Given the description of an element on the screen output the (x, y) to click on. 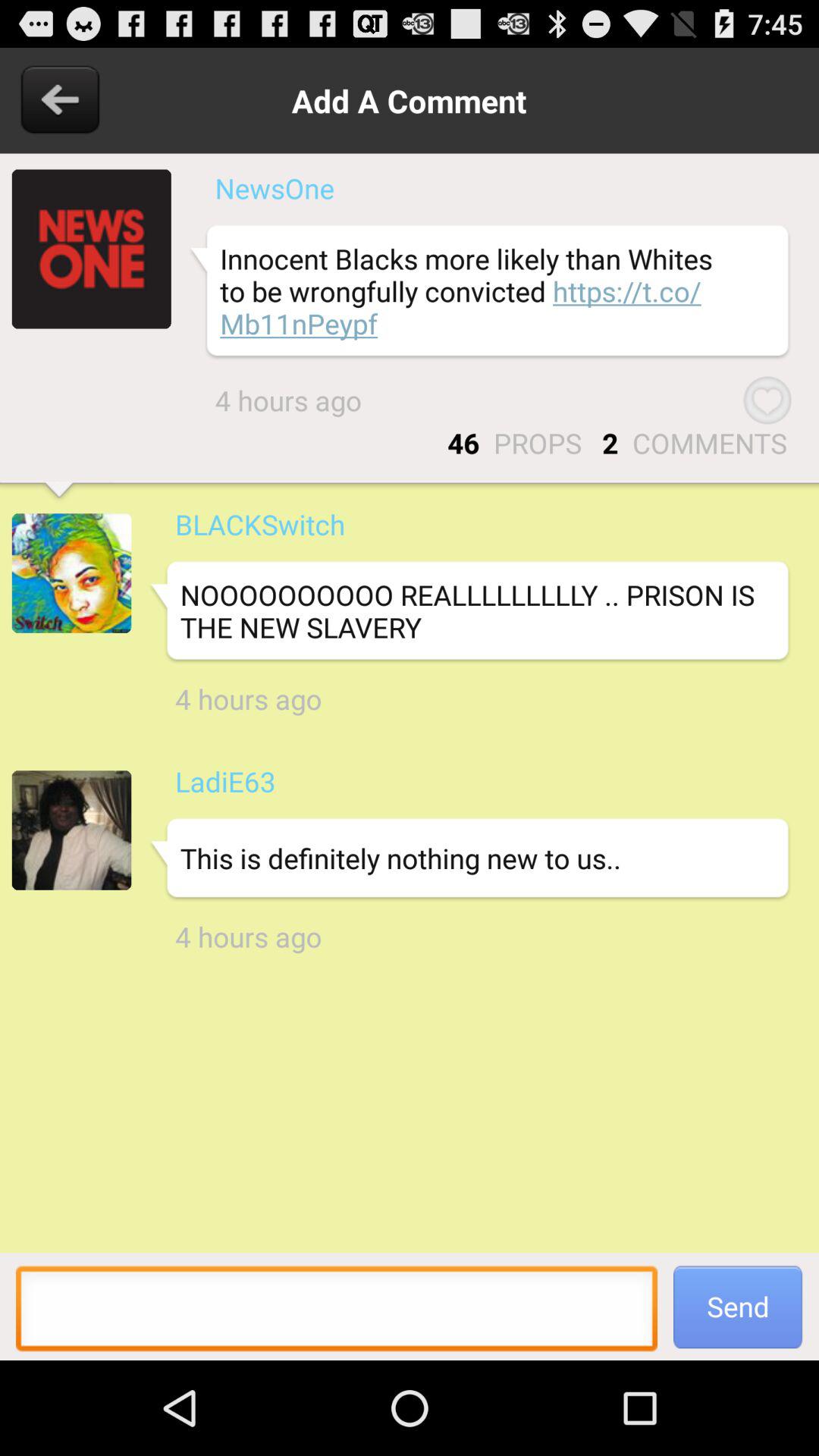
tap the item below the innocent blacks more app (767, 400)
